Given the description of an element on the screen output the (x, y) to click on. 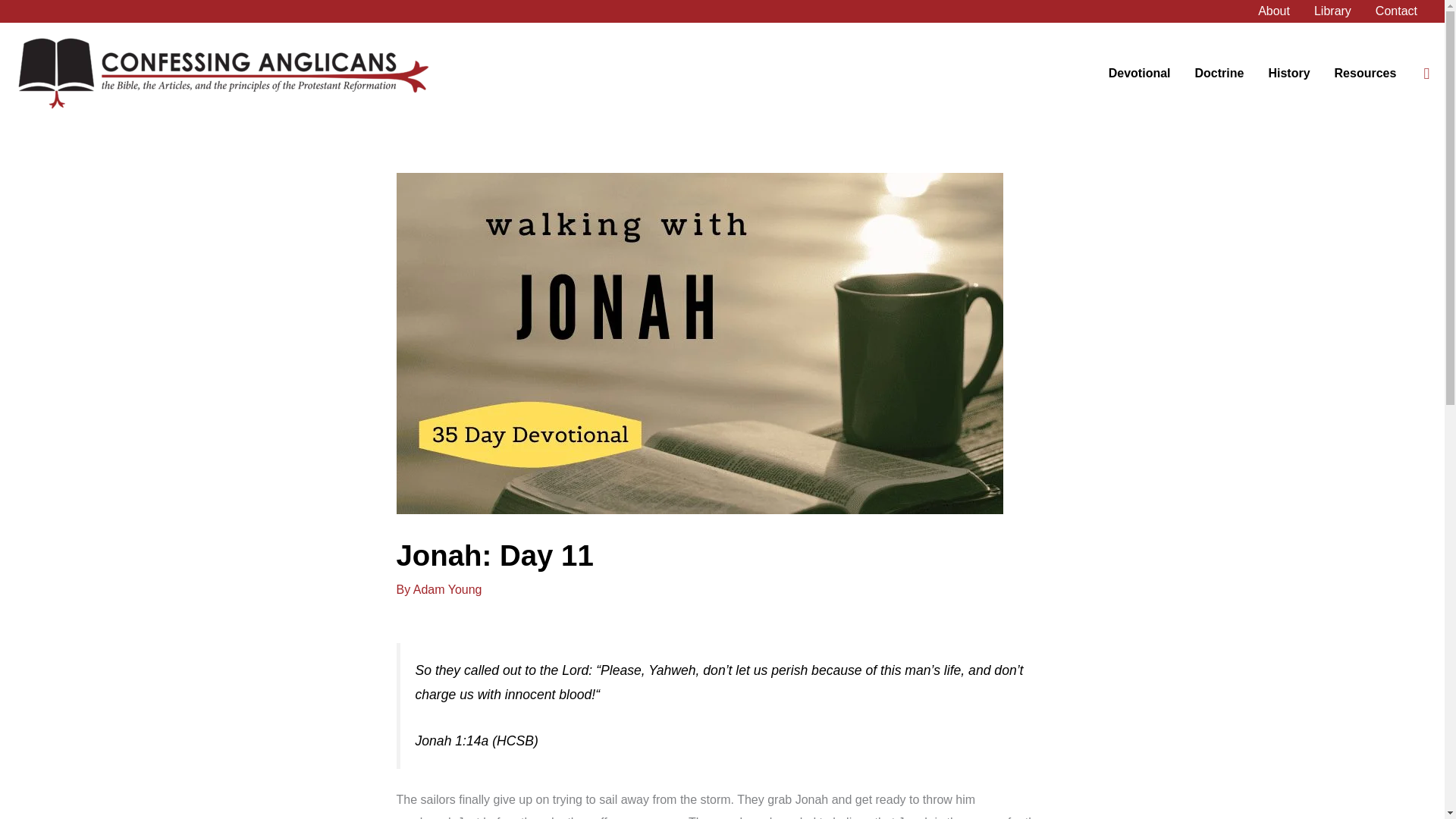
History (1288, 72)
Resources (1365, 72)
Search (1426, 73)
About (1273, 11)
View all posts by Adam Young (447, 589)
Doctrine (1219, 72)
Contact (1395, 11)
Library (1331, 11)
Devotional (1139, 72)
Adam Young (447, 589)
